Given the description of an element on the screen output the (x, y) to click on. 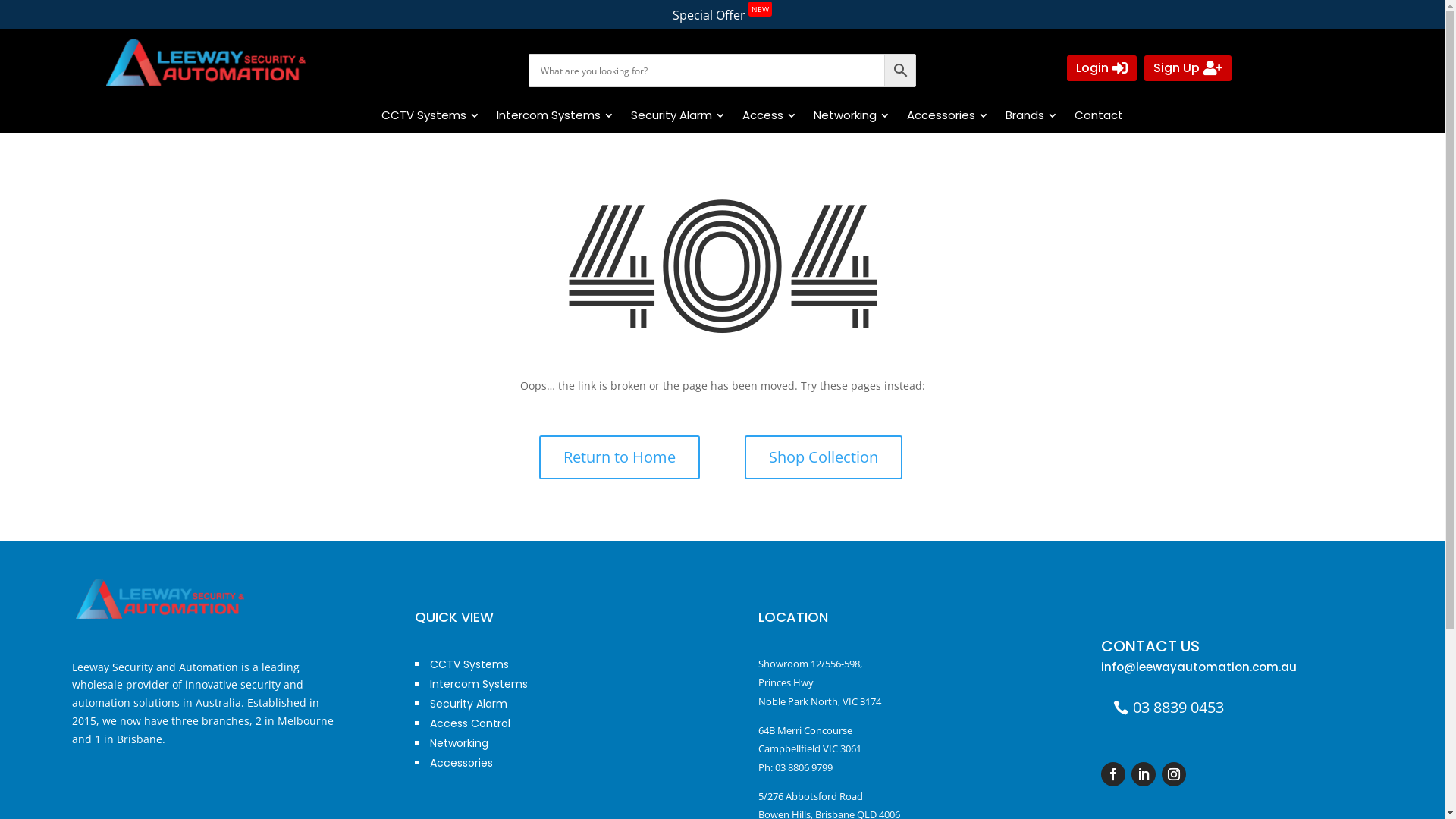
Brands Element type: text (1030, 114)
03 8839 0453 Element type: text (1168, 701)
CCTV Systems Element type: text (468, 663)
Accessories Element type: text (946, 114)
CCTV Systems Element type: text (428, 114)
Shop Collection Element type: text (823, 457)
Follow on Instagram Element type: hover (1173, 774)
Login Element type: text (1101, 68)
Access Element type: text (767, 114)
Networking Element type: text (458, 742)
Special OfferNEW Element type: text (721, 18)
Intercom Systems Element type: text (478, 683)
Follow on Facebook Element type: hover (1113, 774)
Accessories Element type: text (460, 762)
Follow on LinkedIn Element type: hover (1143, 774)
Return to Home Element type: text (619, 457)
Sign Up Element type: text (1187, 68)
Intercom Systems Element type: text (553, 114)
Networking Element type: text (850, 114)
Access Control Element type: text (469, 723)
Contact Element type: text (1097, 114)
Security Alarm Element type: text (677, 114)
Security Alarm Element type: text (468, 703)
